Given the description of an element on the screen output the (x, y) to click on. 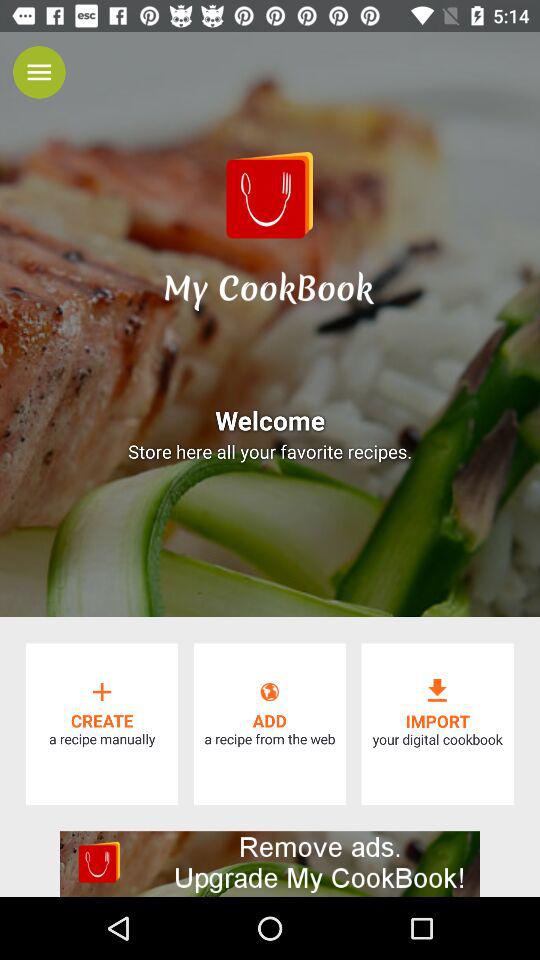
adverdisment (270, 864)
